Given the description of an element on the screen output the (x, y) to click on. 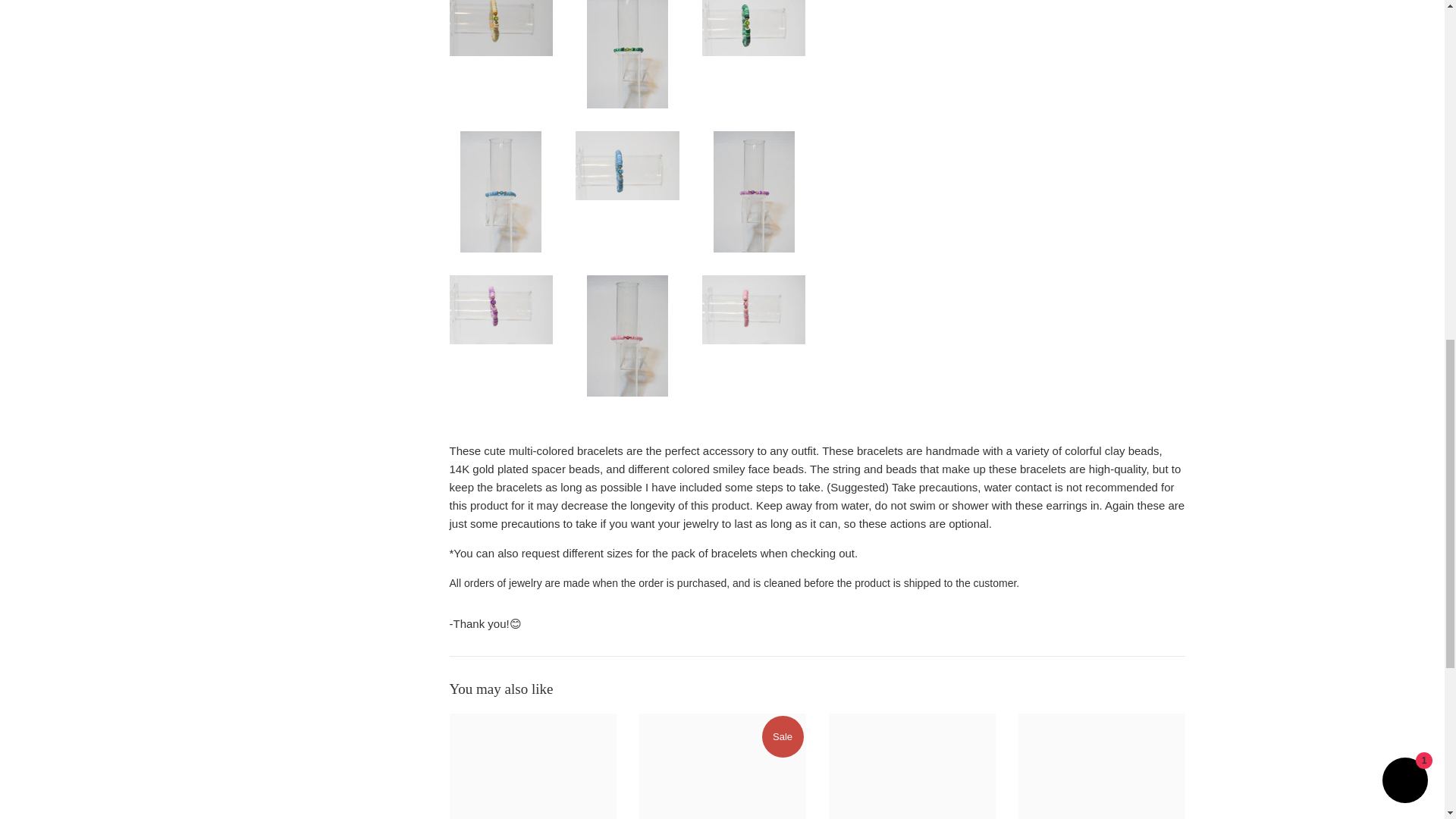
Taylor Swift Eras Inspired Gemstone Friendship Bracelets (531, 766)
Flower Charm Earrings (1101, 766)
Music Note Charm Earrings (911, 766)
Gummy Bear Charm Earrings (722, 766)
